Given the description of an element on the screen output the (x, y) to click on. 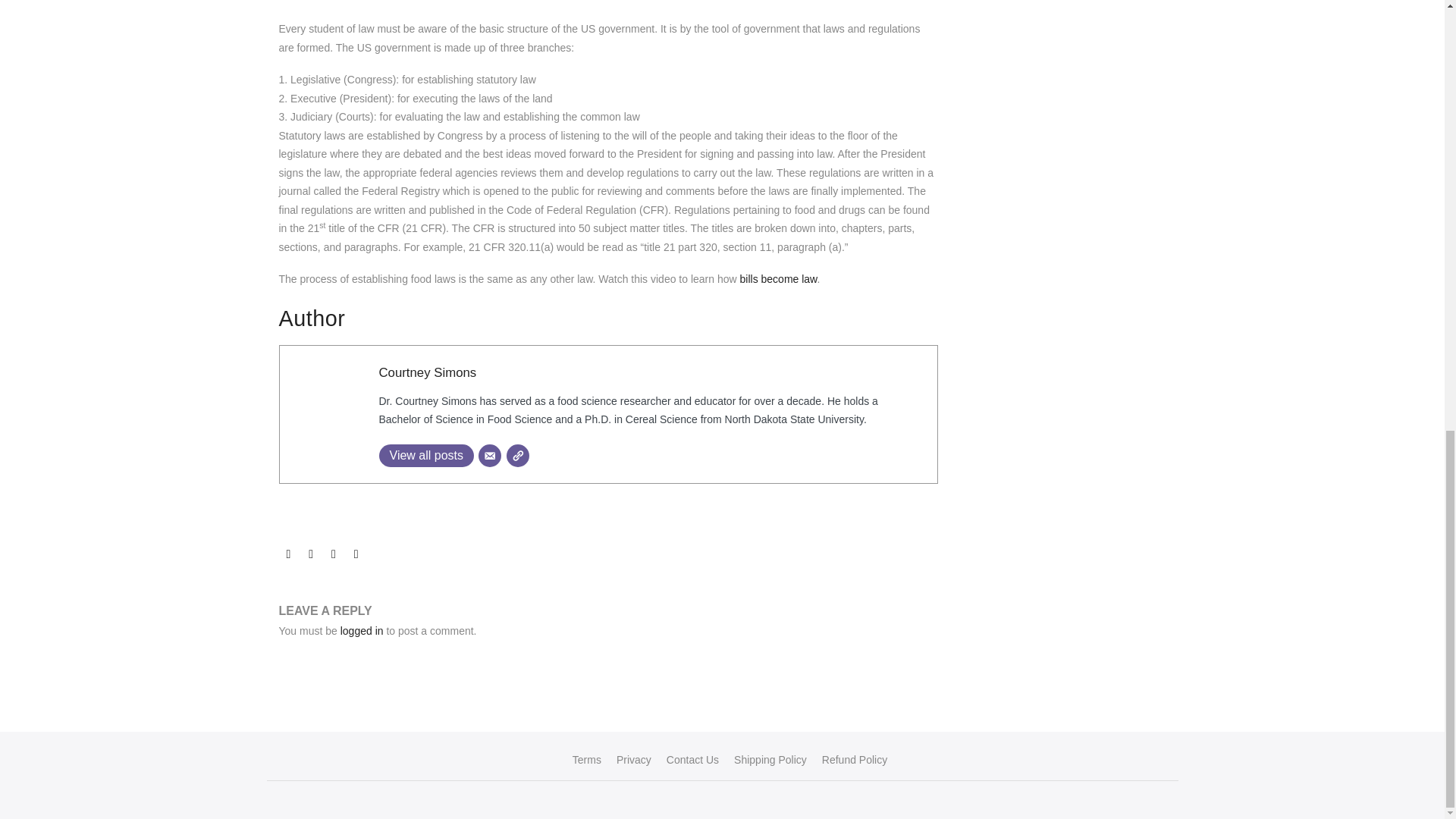
Courtney Simons (427, 372)
bills become law (777, 278)
View all posts (426, 455)
Courtney Simons (427, 372)
